Given the description of an element on the screen output the (x, y) to click on. 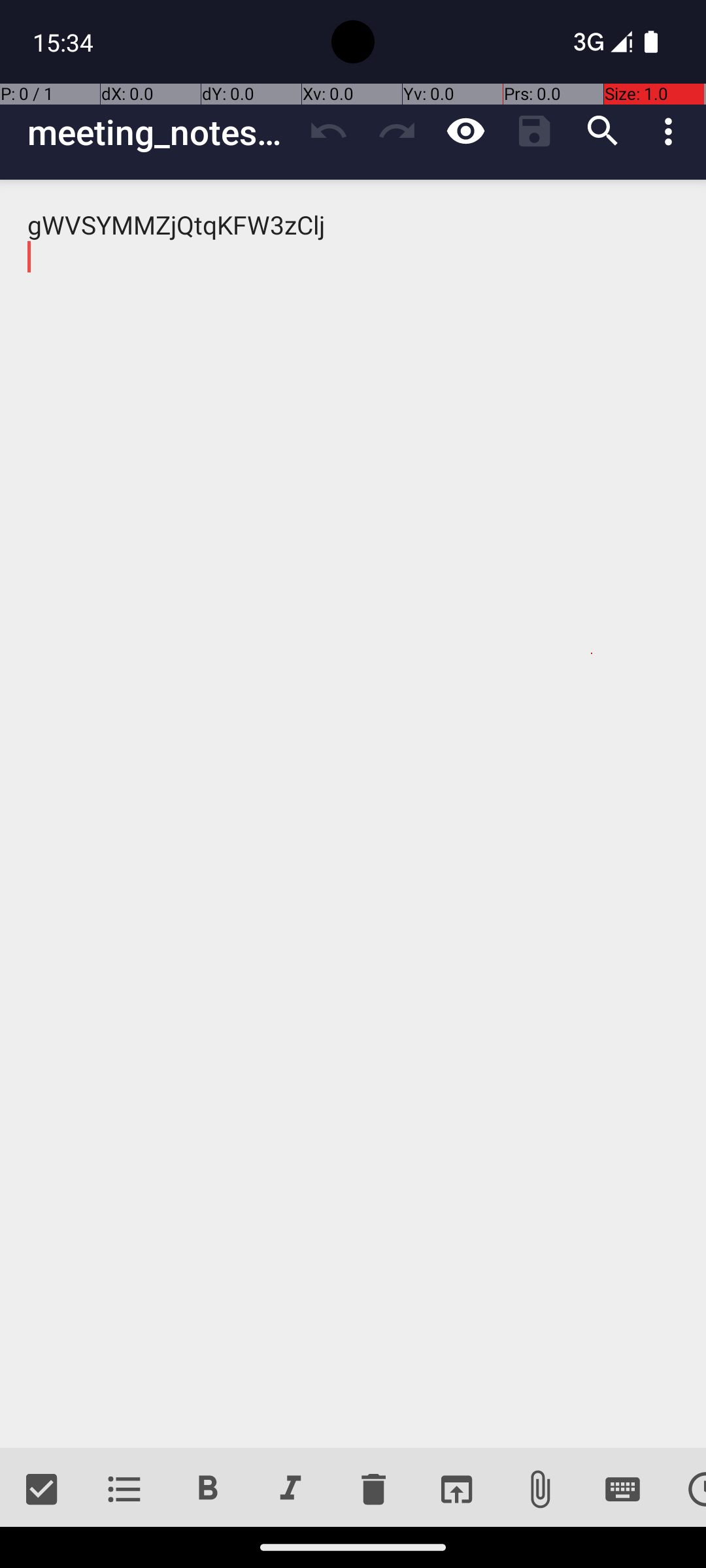
meeting_notes_project_team_final Element type: android.widget.TextView (160, 131)
gWVSYMMZjQtqKFW3zClj
 Element type: android.widget.EditText (353, 813)
